Given the description of an element on the screen output the (x, y) to click on. 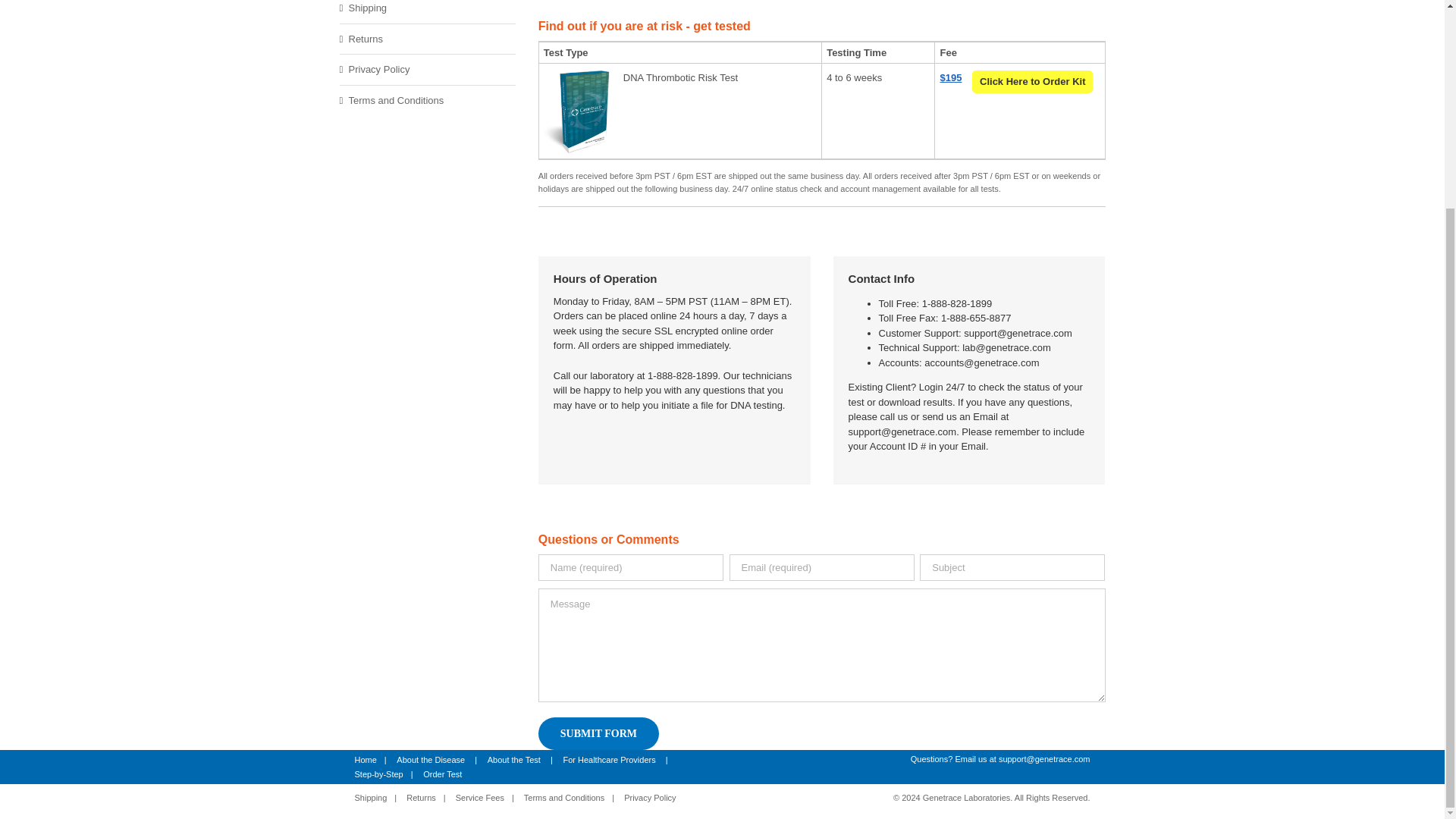
thrombosis-testing (821, 16)
Questions or Comments (998, 1)
Submit Form (821, 534)
